Given the description of an element on the screen output the (x, y) to click on. 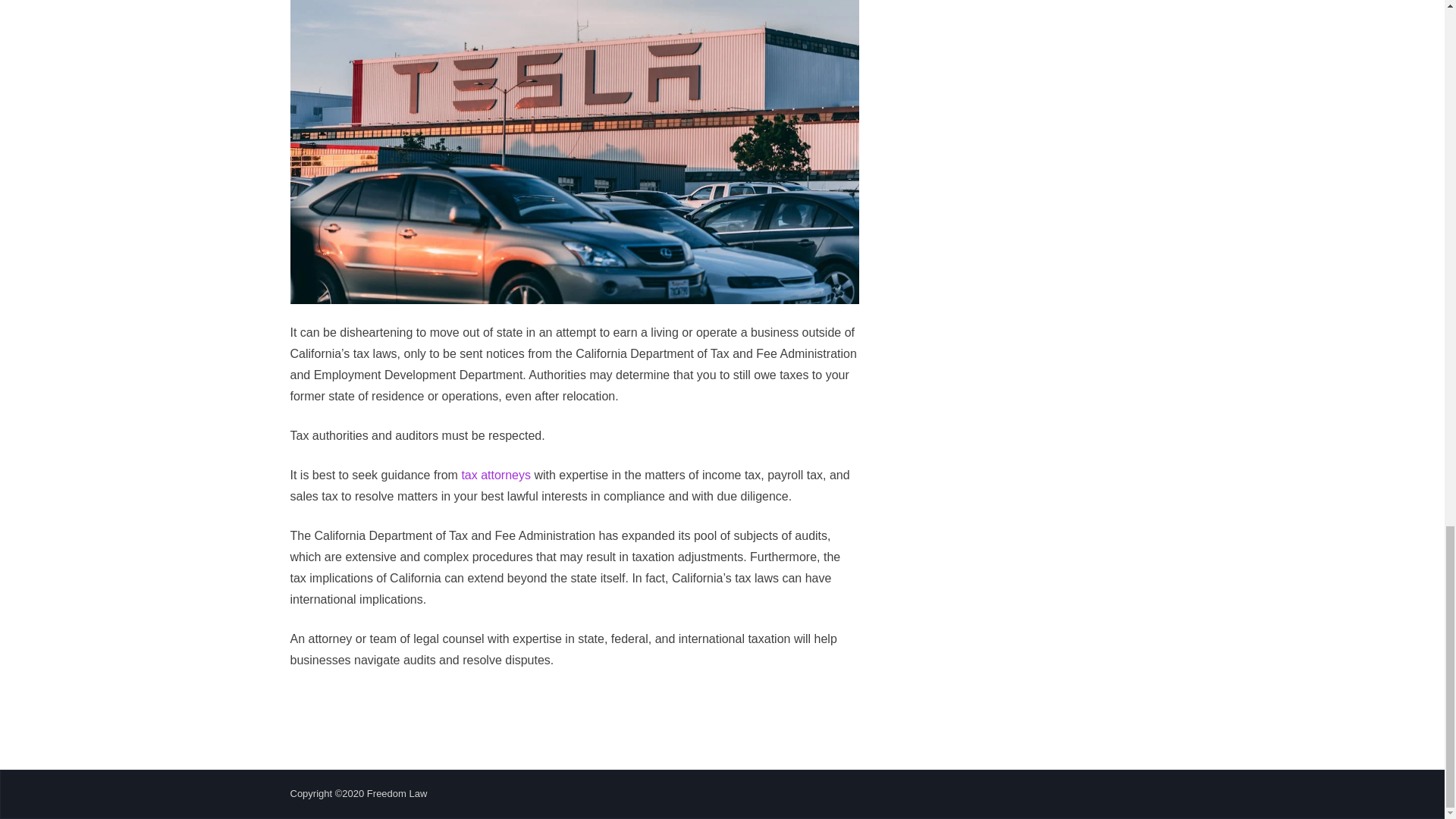
tax attorneys (496, 474)
